Given the description of an element on the screen output the (x, y) to click on. 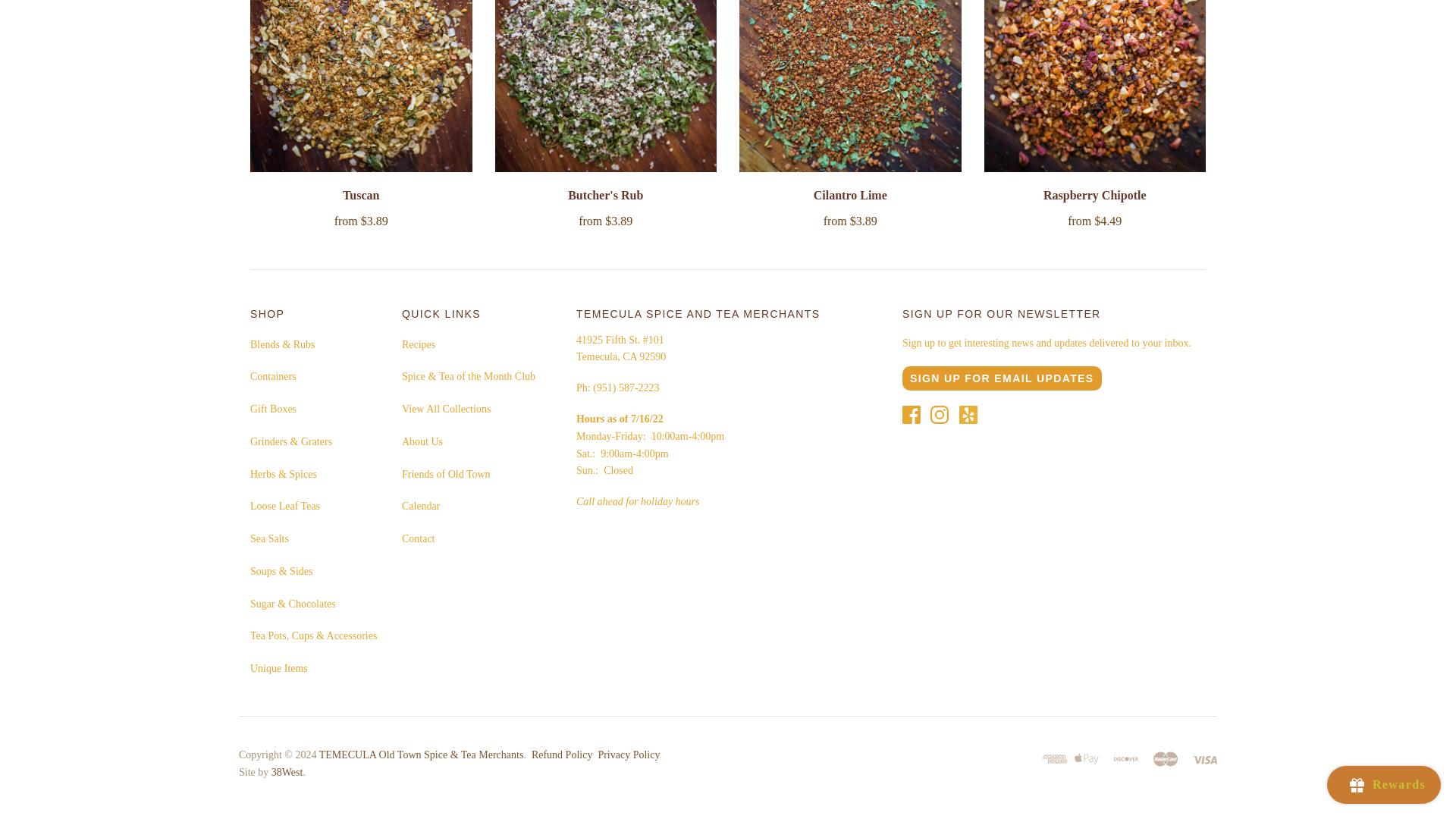
Facebook (911, 414)
Gift Boxes (273, 408)
Cilantro Lime (849, 195)
Butcher's Rub (605, 195)
Instagram (939, 414)
Tuscan (360, 195)
Raspberry Chipotle (1095, 195)
Containers (273, 376)
